Given the description of an element on the screen output the (x, y) to click on. 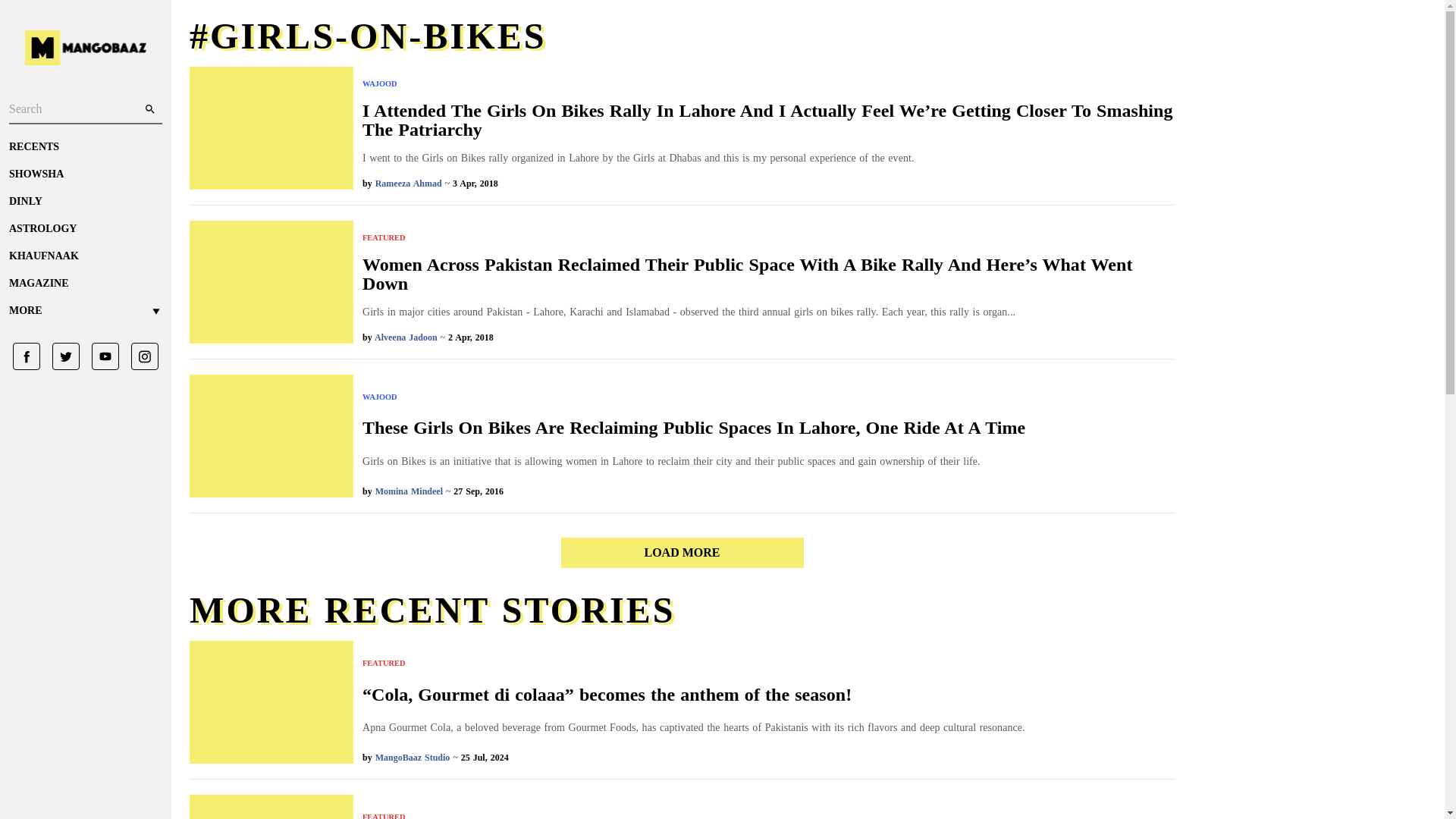
Rameeza Ahmad (408, 183)
RECENTS (84, 146)
MangoBaaz Magazine (84, 283)
SHOWSHA (84, 174)
DINLY (84, 201)
WAJOOD (768, 83)
MAGAZINE (84, 283)
Link to Instagram (138, 356)
KHAUFNAAK (84, 256)
ASTROLOGY (84, 228)
Link to Facebook (26, 356)
Alveena Jadoon (406, 337)
MORE (84, 310)
Link to Twitter (60, 356)
WAJOOD (693, 397)
